Given the description of an element on the screen output the (x, y) to click on. 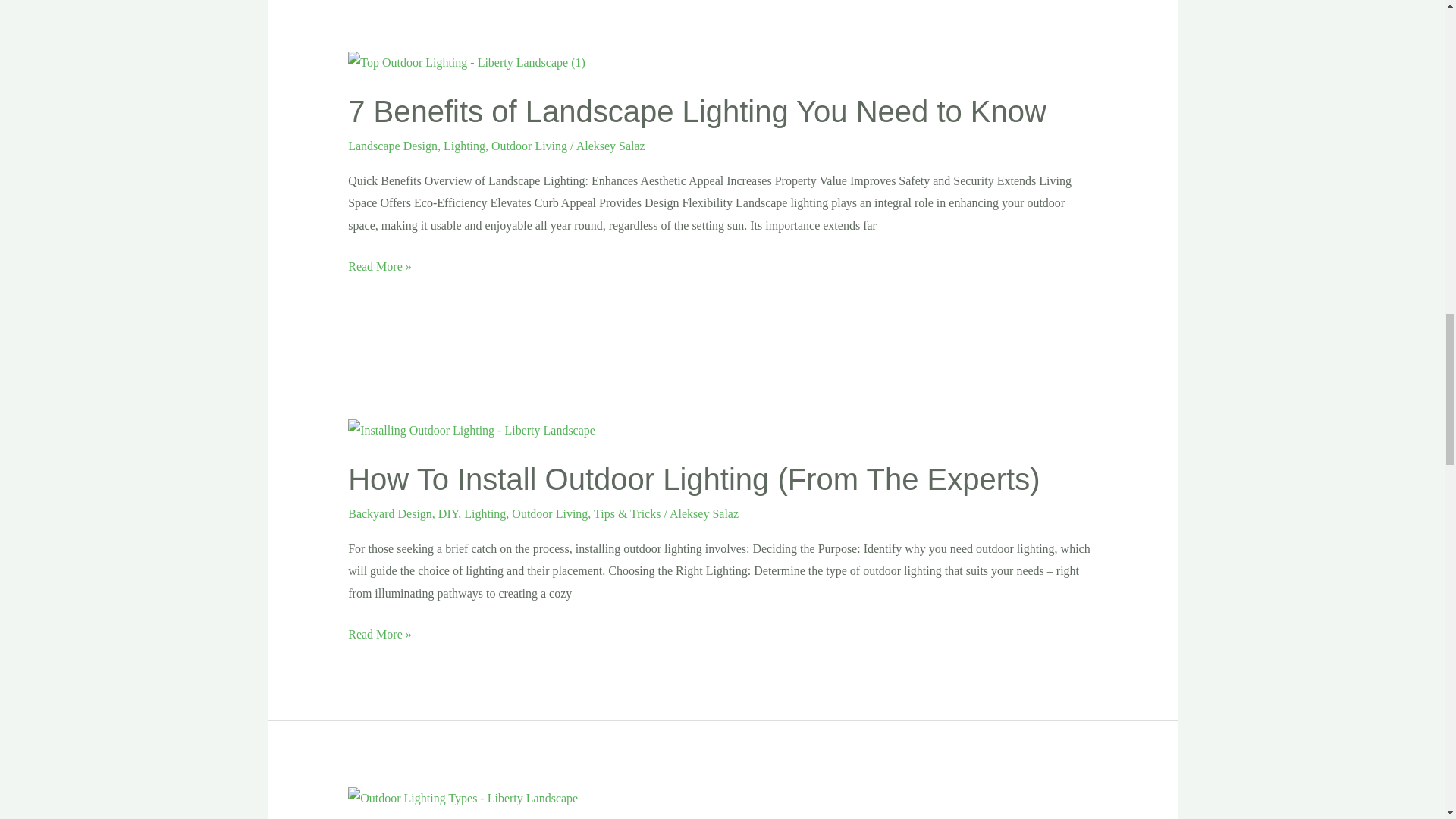
View all posts by Aleksey Salaz (610, 145)
View all posts by Aleksey Salaz (703, 513)
